Given the description of an element on the screen output the (x, y) to click on. 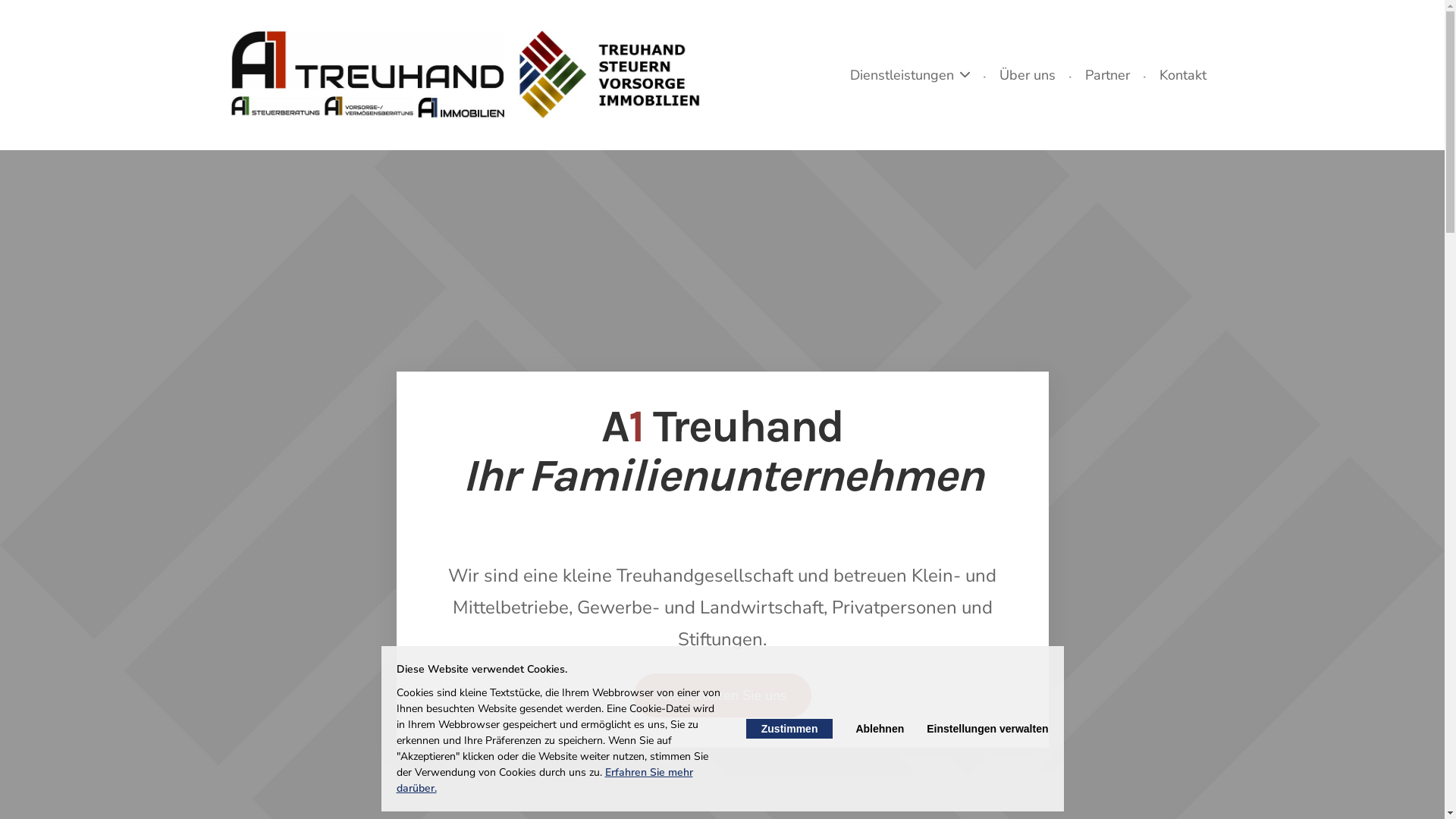
Kontaktieren Sie uns Element type: text (722, 695)
Partner Element type: text (1107, 74)
Einstellungen verwalten Element type: text (987, 728)
Ablehnen Element type: text (879, 728)
Kontakt Element type: text (1182, 74)
Zustimmen Element type: text (789, 728)
